Given the description of an element on the screen output the (x, y) to click on. 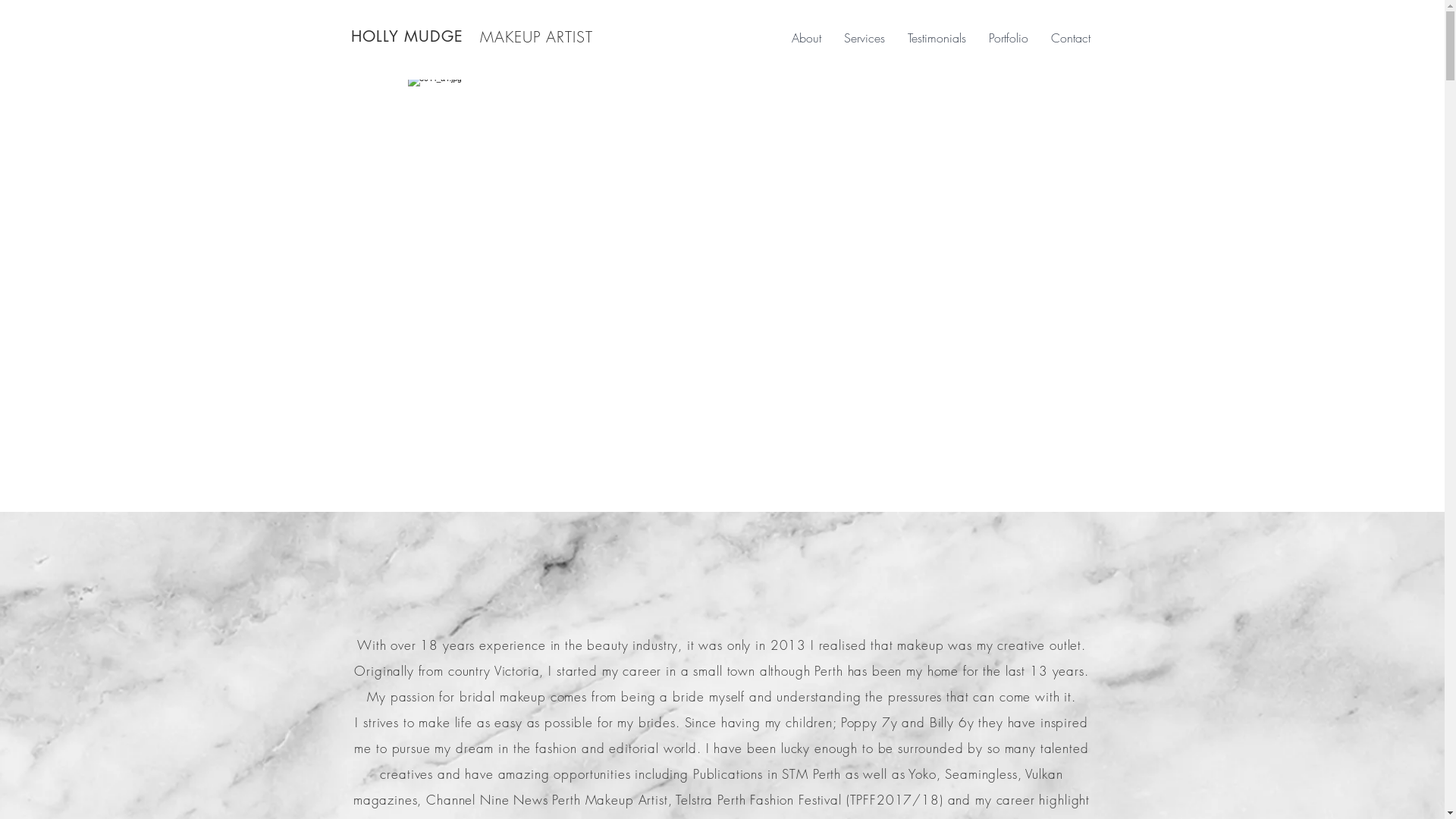
Contact Element type: text (1069, 37)
Services Element type: text (864, 37)
Portfolio Element type: text (1007, 37)
MAKEUP ARTIST Element type: text (535, 36)
About Element type: text (805, 37)
Testimonials Element type: text (936, 37)
HOLLY MUDGE Element type: text (406, 36)
